Given the description of an element on the screen output the (x, y) to click on. 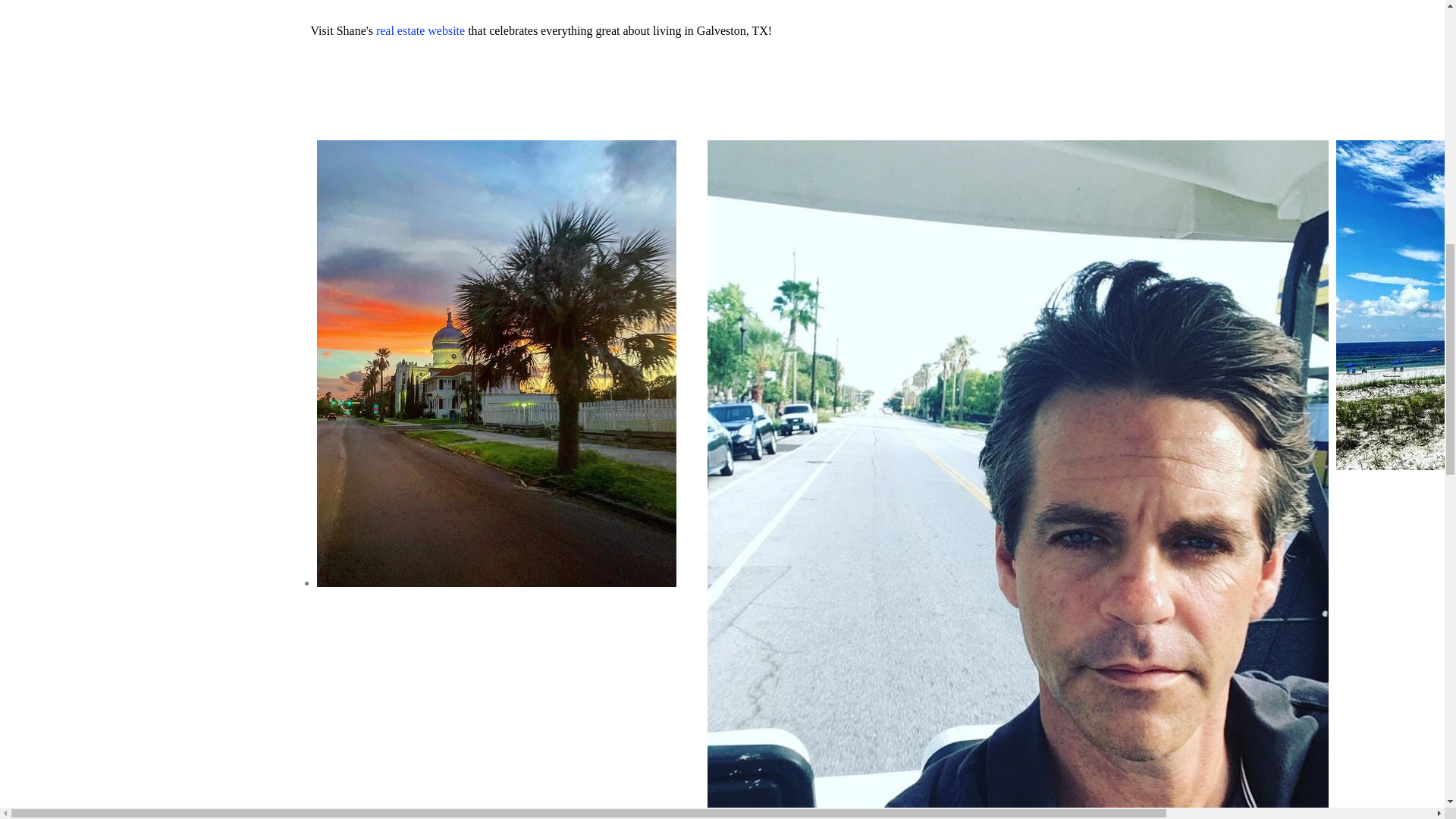
real estate website (419, 30)
